Given the description of an element on the screen output the (x, y) to click on. 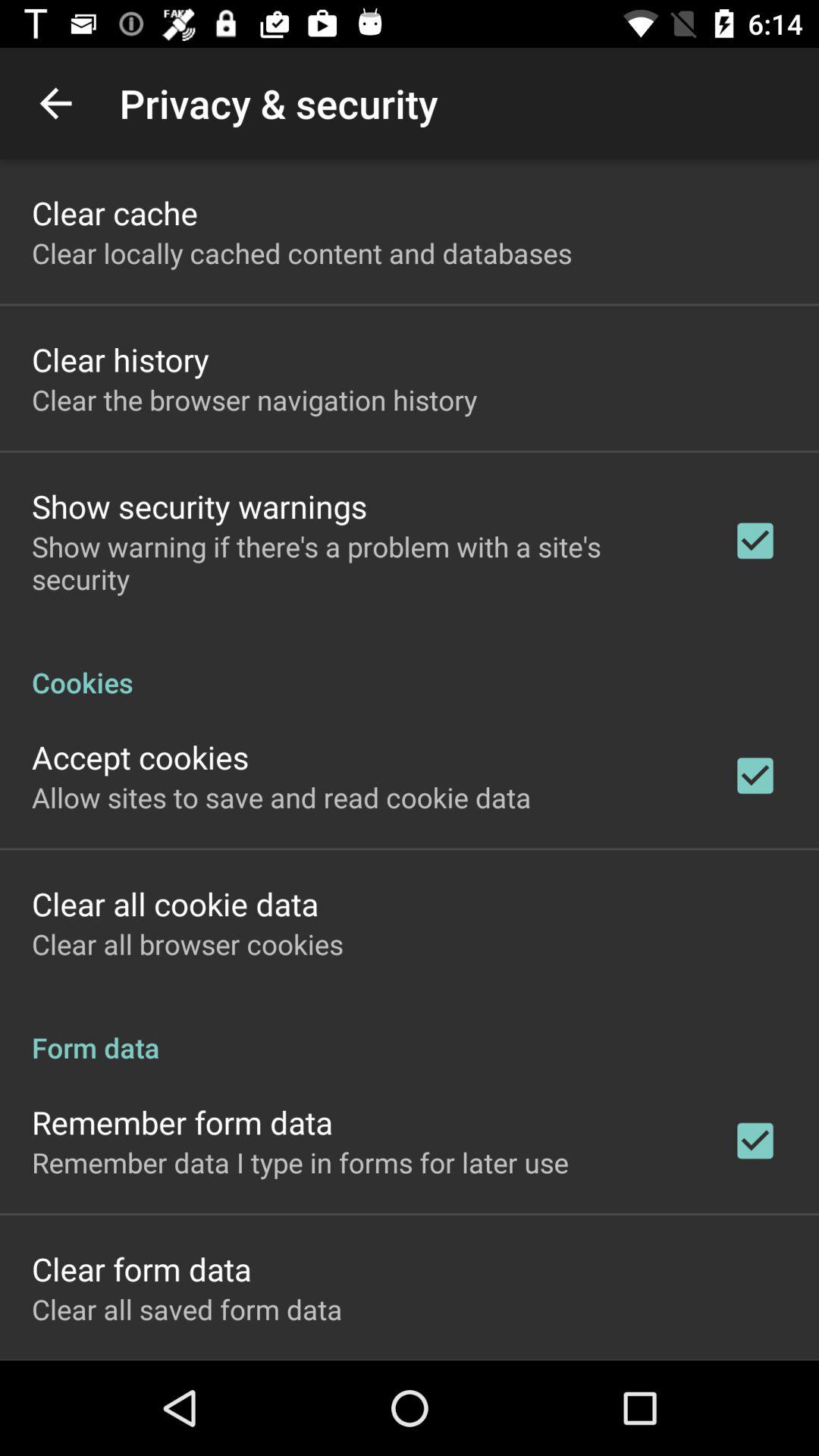
click icon below accept cookies (281, 797)
